Given the description of an element on the screen output the (x, y) to click on. 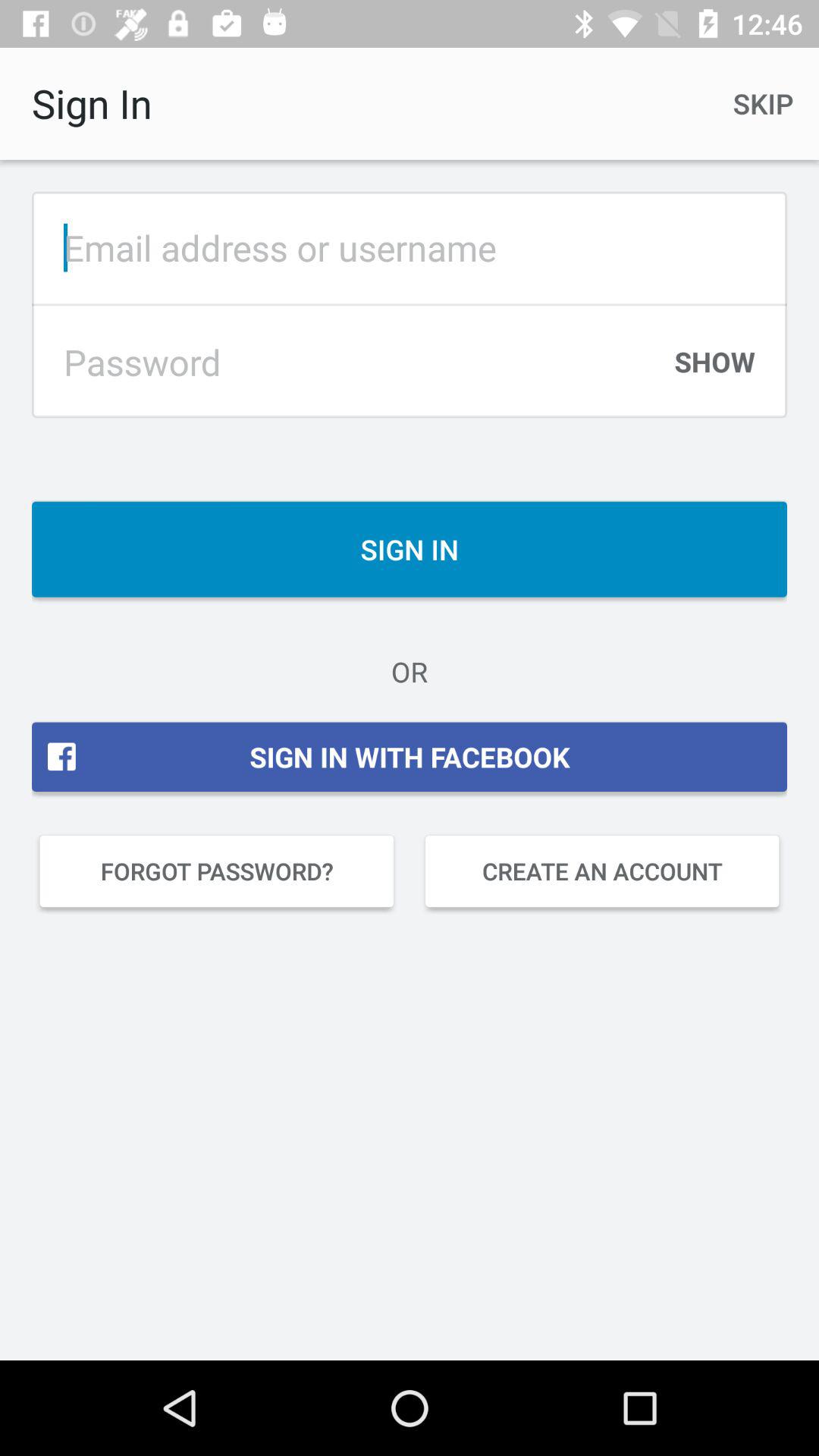
enter email or username (409, 247)
